Given the description of an element on the screen output the (x, y) to click on. 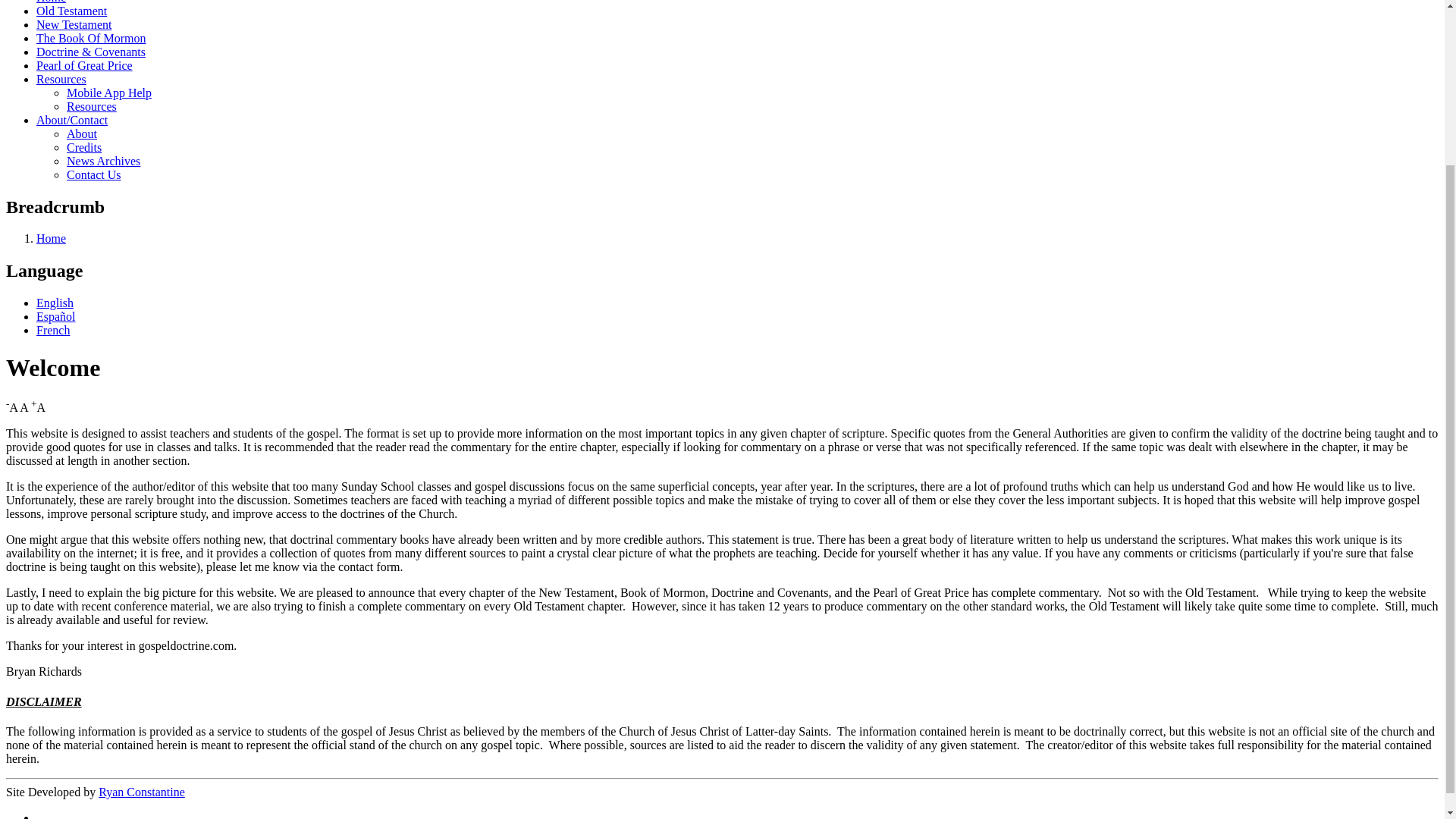
English (55, 302)
Pearl of Great Price (84, 65)
Mobile App Help (108, 92)
New Testament (74, 24)
Credits (83, 146)
Home (50, 237)
The Book Of Mormon (90, 38)
About (81, 133)
Home (50, 2)
Old Testament (71, 10)
French (52, 329)
News Archives (102, 160)
Resources (60, 78)
Contact Us (93, 174)
Resources (91, 106)
